Given the description of an element on the screen output the (x, y) to click on. 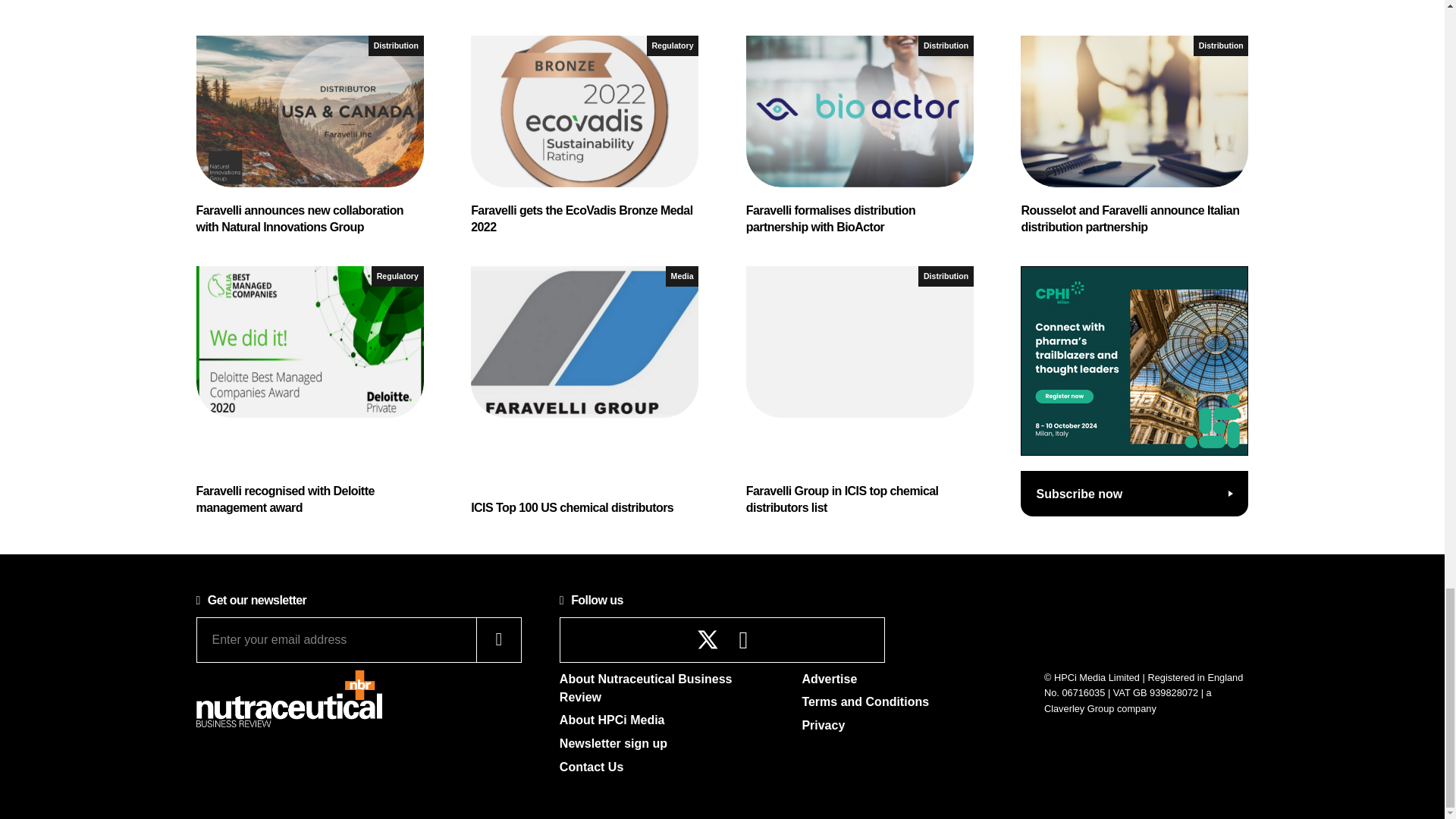
Follow Nutraceutical Business Review on X (708, 639)
